Given the description of an element on the screen output the (x, y) to click on. 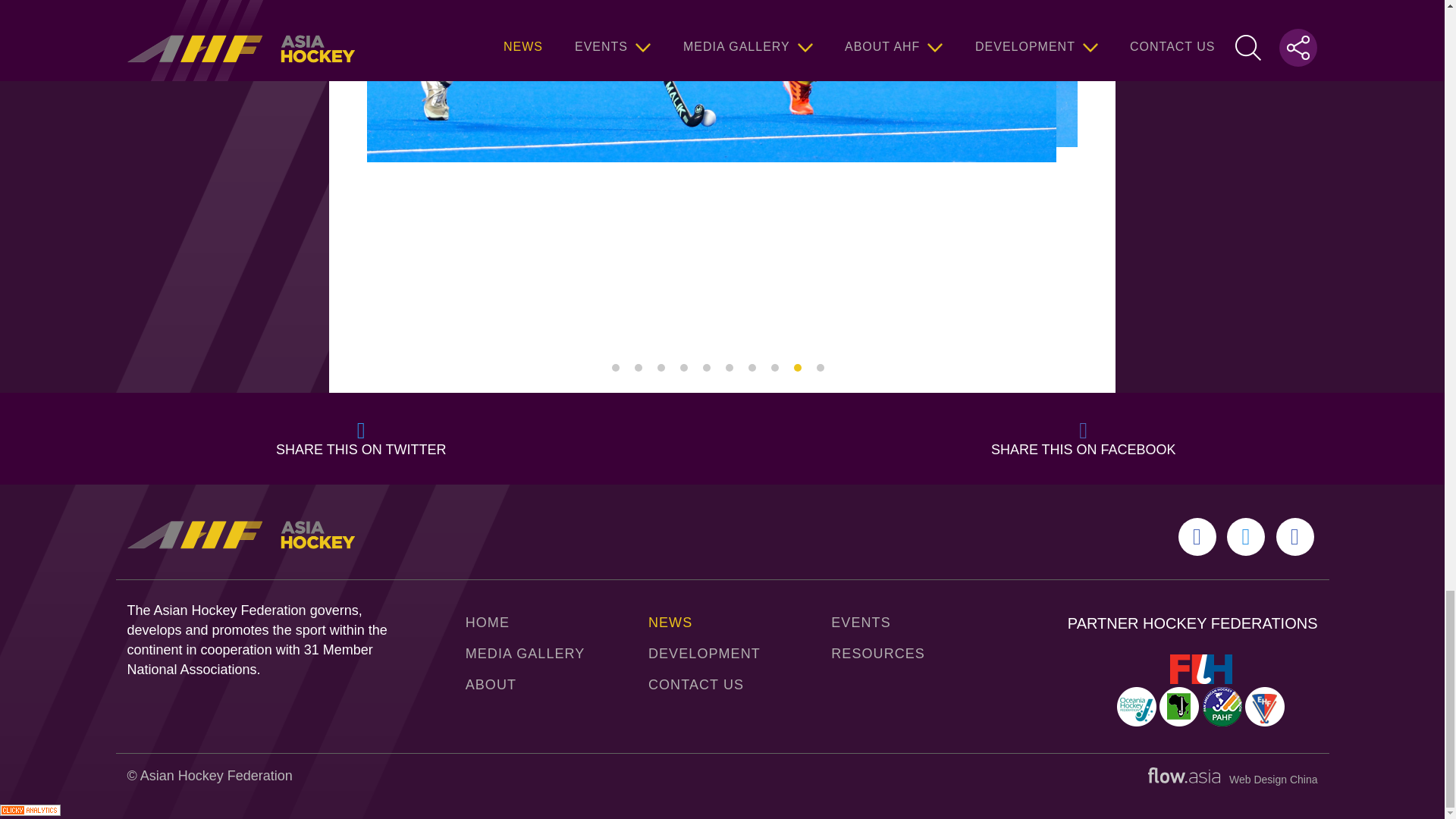
Layer 1 (1184, 774)
Real Time Analytics (30, 811)
